Given the description of an element on the screen output the (x, y) to click on. 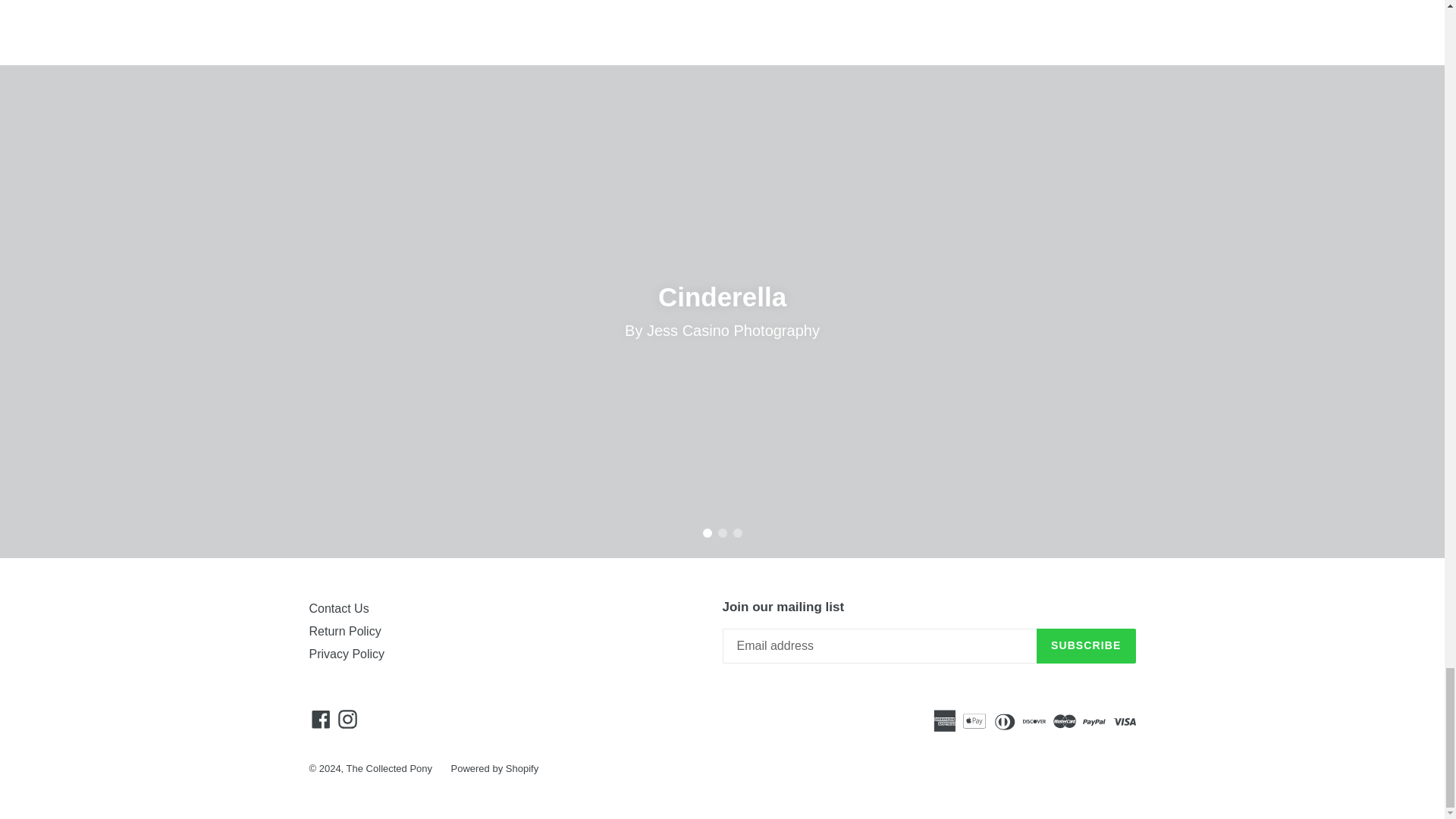
The Collected Pony on Facebook (320, 719)
The Collected Pony on Instagram (347, 719)
